Given the description of an element on the screen output the (x, y) to click on. 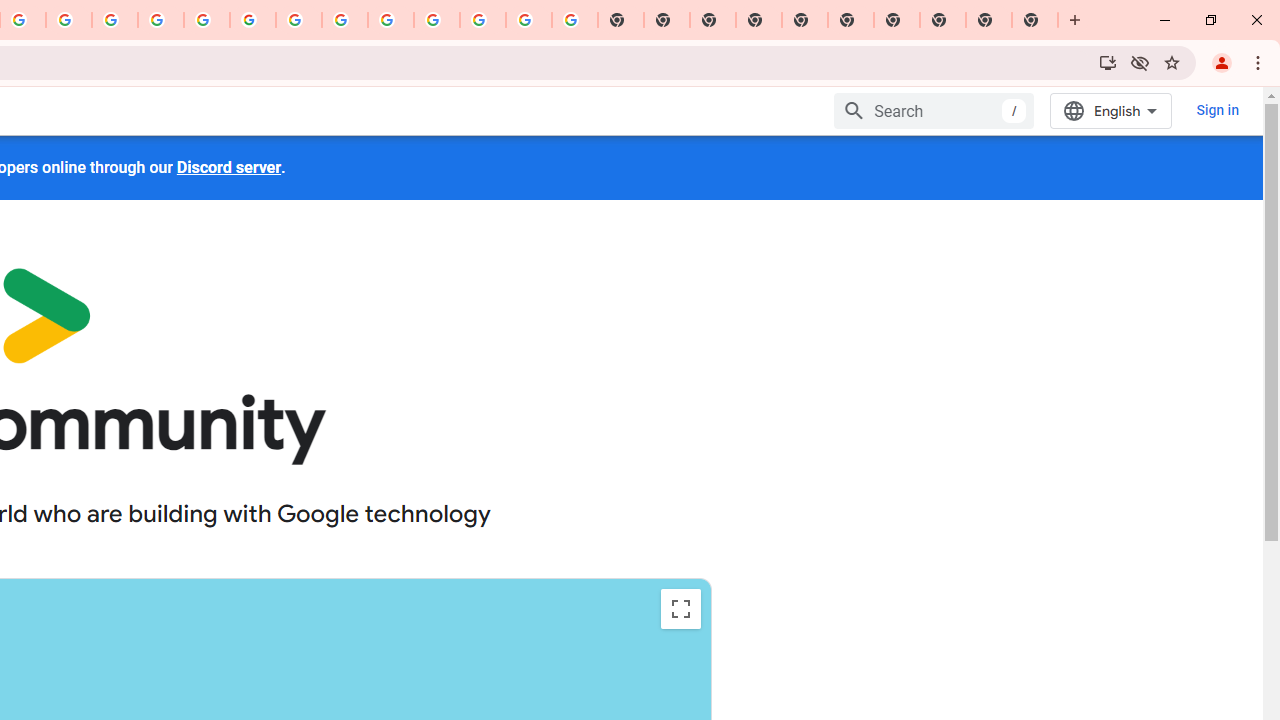
New Tab (1075, 20)
Third-party cookies blocked (1139, 62)
Toggle fullscreen view (680, 608)
Privacy Help Center - Policies Help (161, 20)
Google Images (574, 20)
Restore (1210, 20)
Browse Chrome as a guest - Computer - Google Chrome Help (345, 20)
You (1221, 62)
Privacy Help Center - Policies Help (115, 20)
Search (934, 110)
Install Google Developers (1107, 62)
Discord server (228, 167)
